Given the description of an element on the screen output the (x, y) to click on. 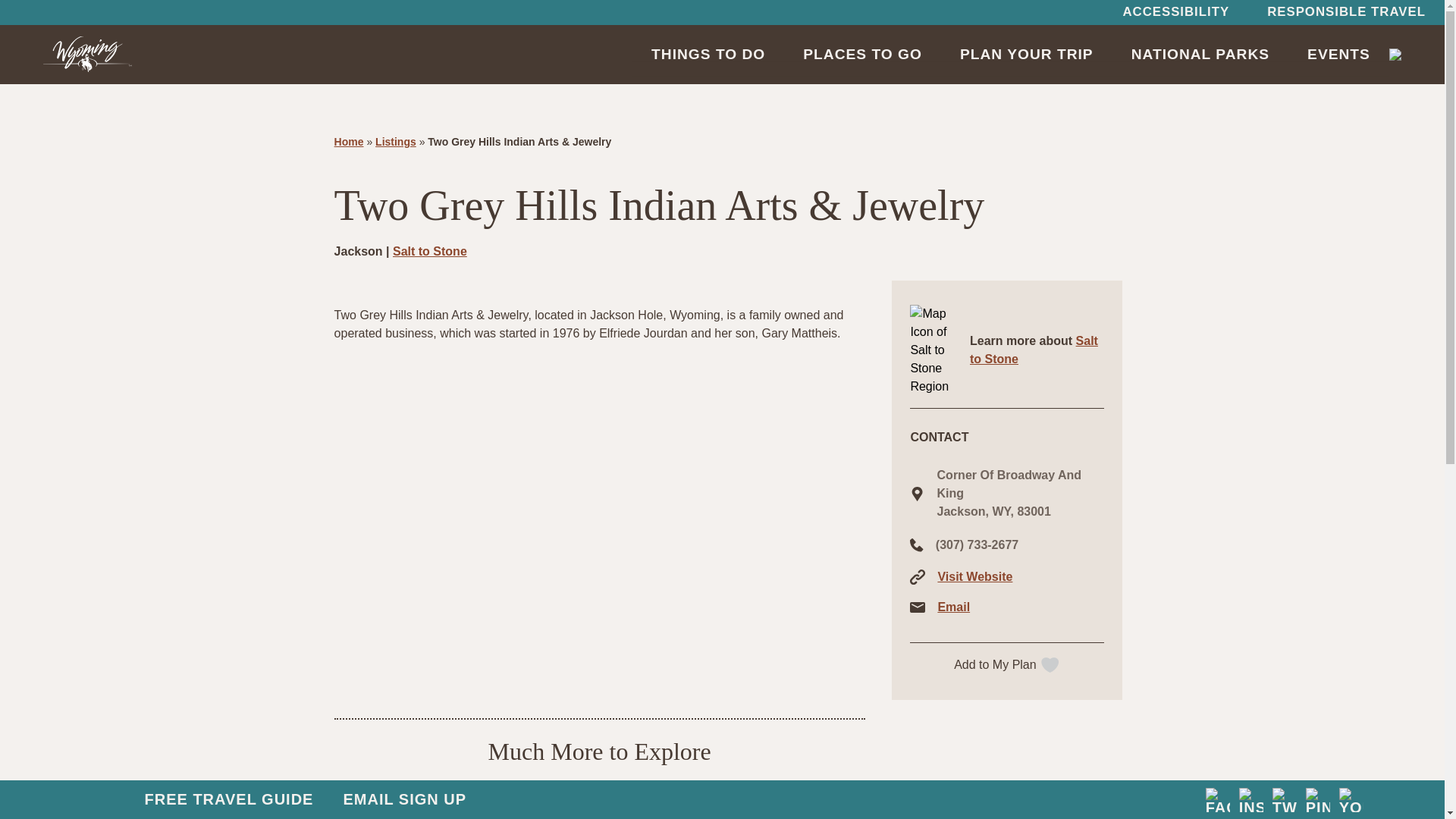
EVENTS (1338, 53)
RESPONSIBLE TRAVEL (1345, 11)
PLACES TO GO (862, 53)
NATIONAL PARKS (1200, 53)
ACCESSIBILITY (1175, 11)
PLAN YOUR TRIP (1026, 53)
THINGS TO DO (707, 53)
